Given the description of an element on the screen output the (x, y) to click on. 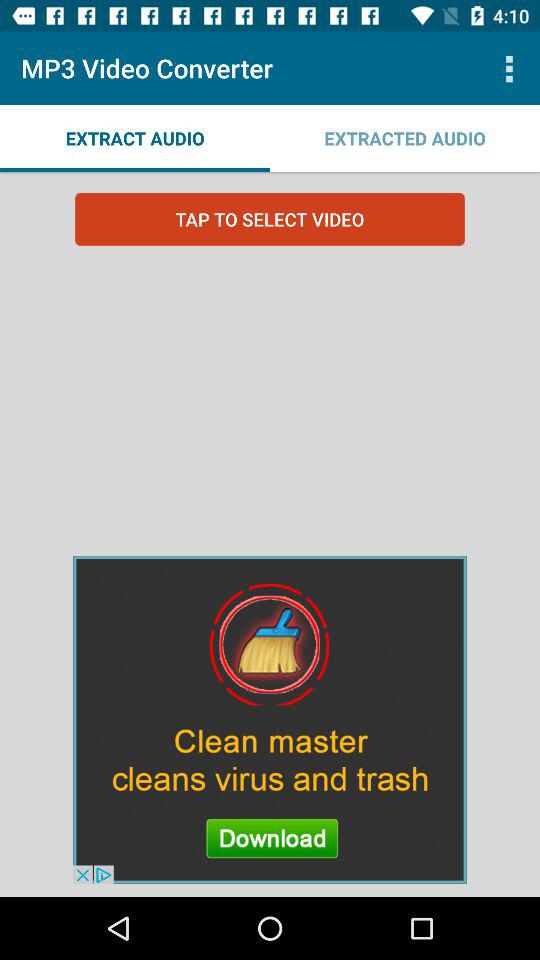
go to advertised app download page (269, 719)
